Given the description of an element on the screen output the (x, y) to click on. 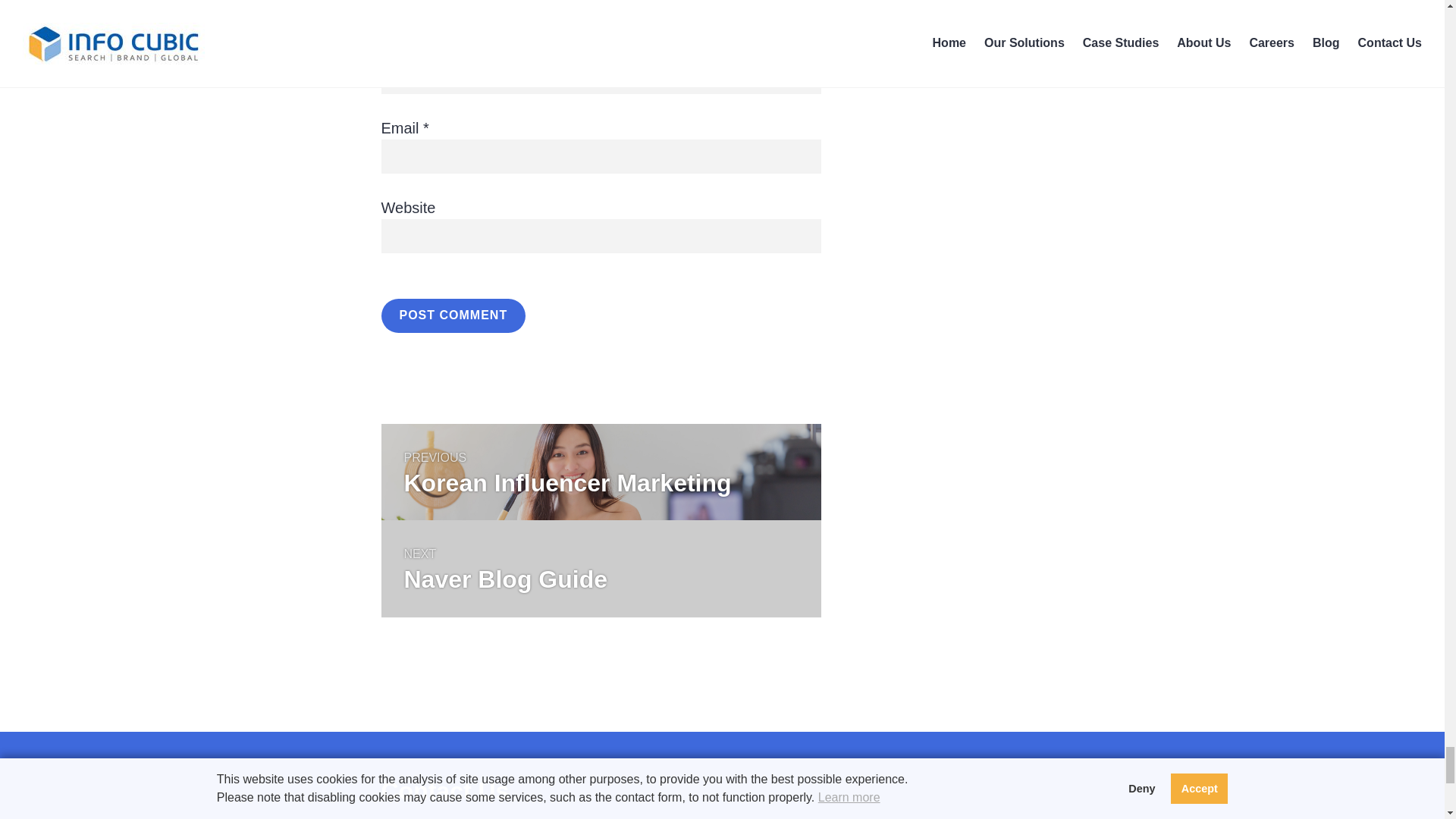
Post Comment (452, 315)
Post Comment (452, 315)
